Given the description of an element on the screen output the (x, y) to click on. 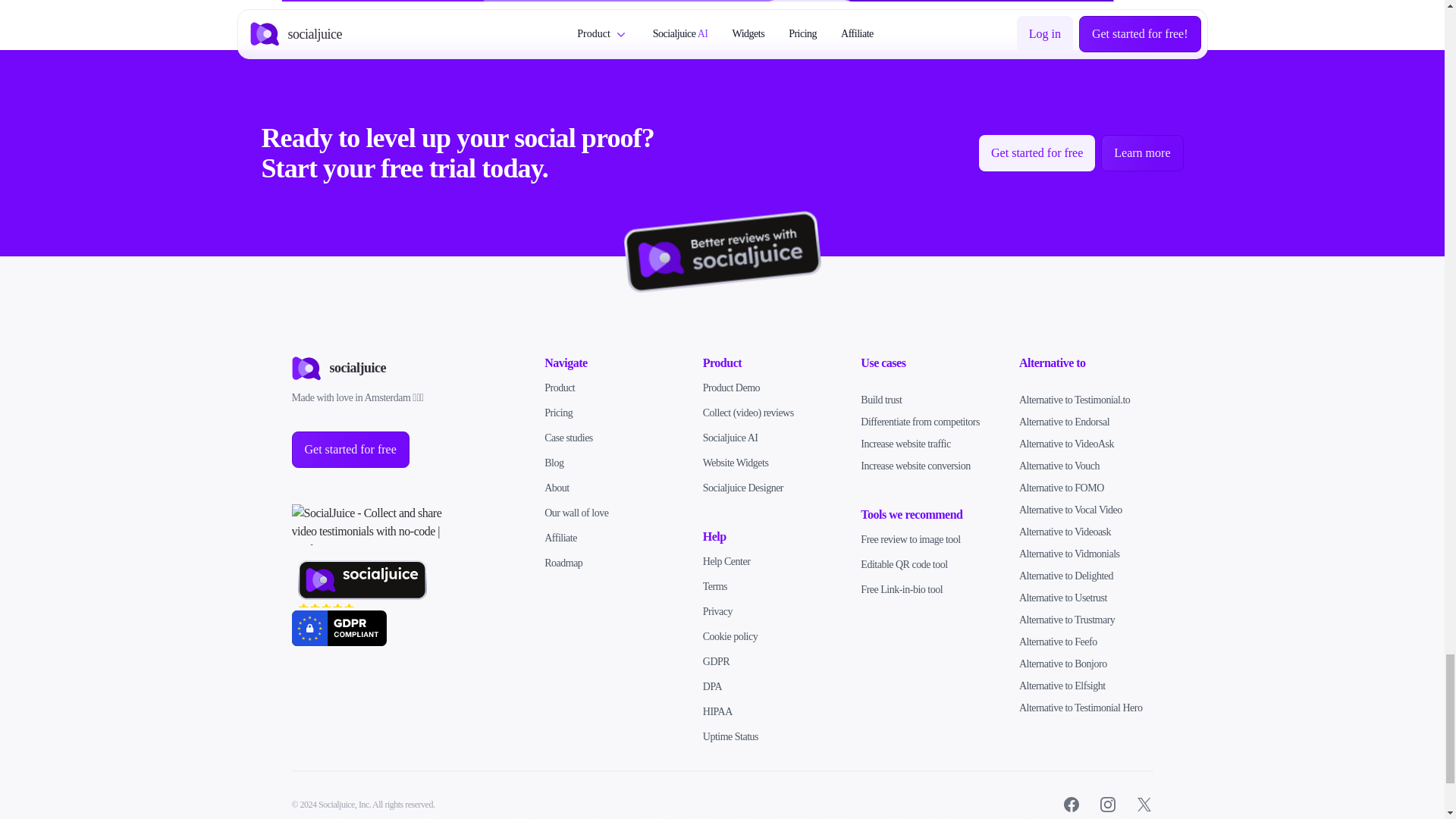
Get started for free (350, 448)
Get started for free (1036, 153)
socialjuice (338, 367)
Product Demo (731, 387)
About (556, 487)
Case studies (568, 437)
Blog (553, 461)
Get started for free (350, 448)
Our wall of love (576, 511)
Affiliate (560, 537)
Pricing (558, 411)
Learn more (1141, 153)
Get started for free (1037, 153)
Roadmap (563, 562)
